Given the description of an element on the screen output the (x, y) to click on. 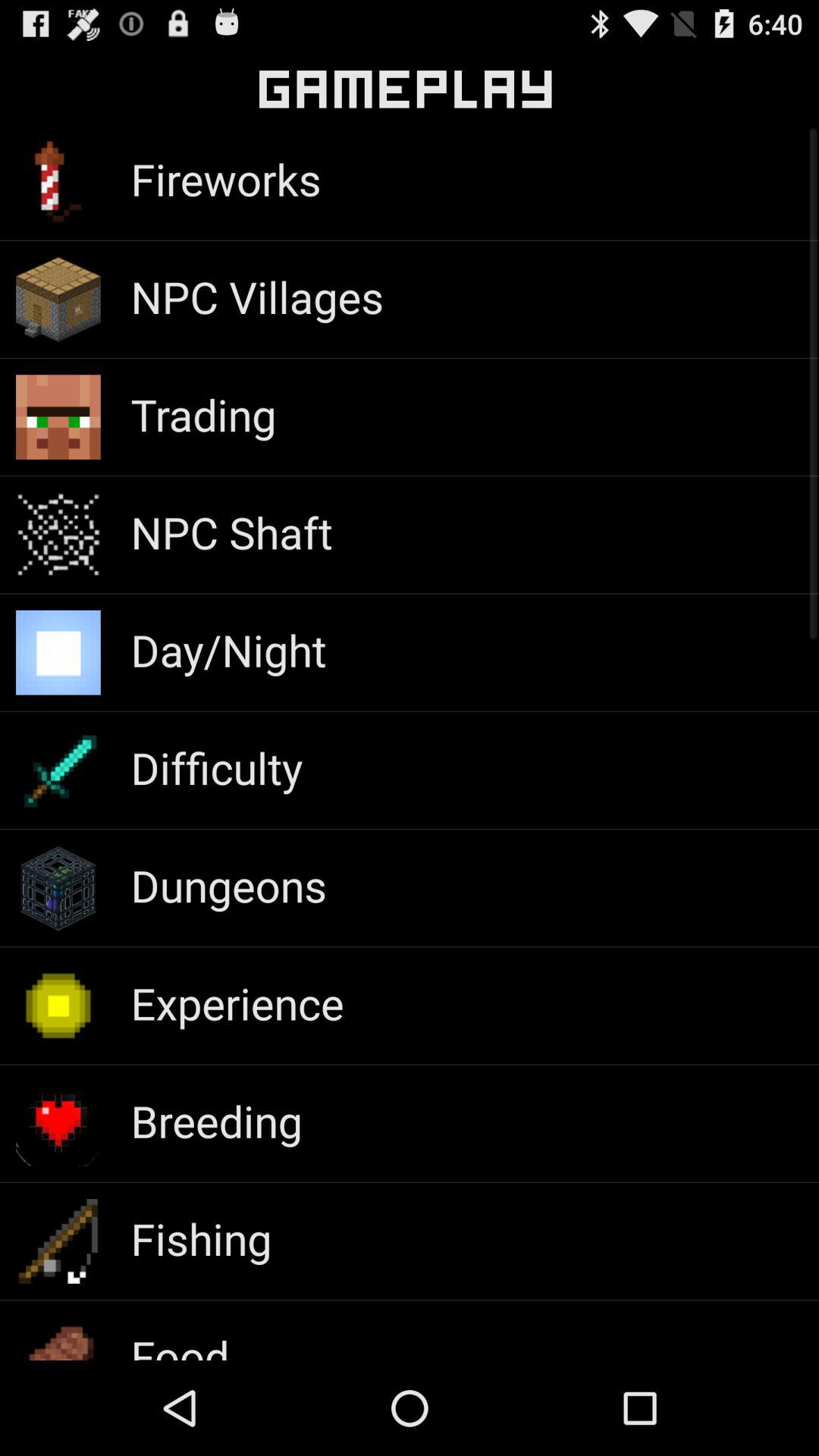
scroll until day/night app (228, 649)
